Given the description of an element on the screen output the (x, y) to click on. 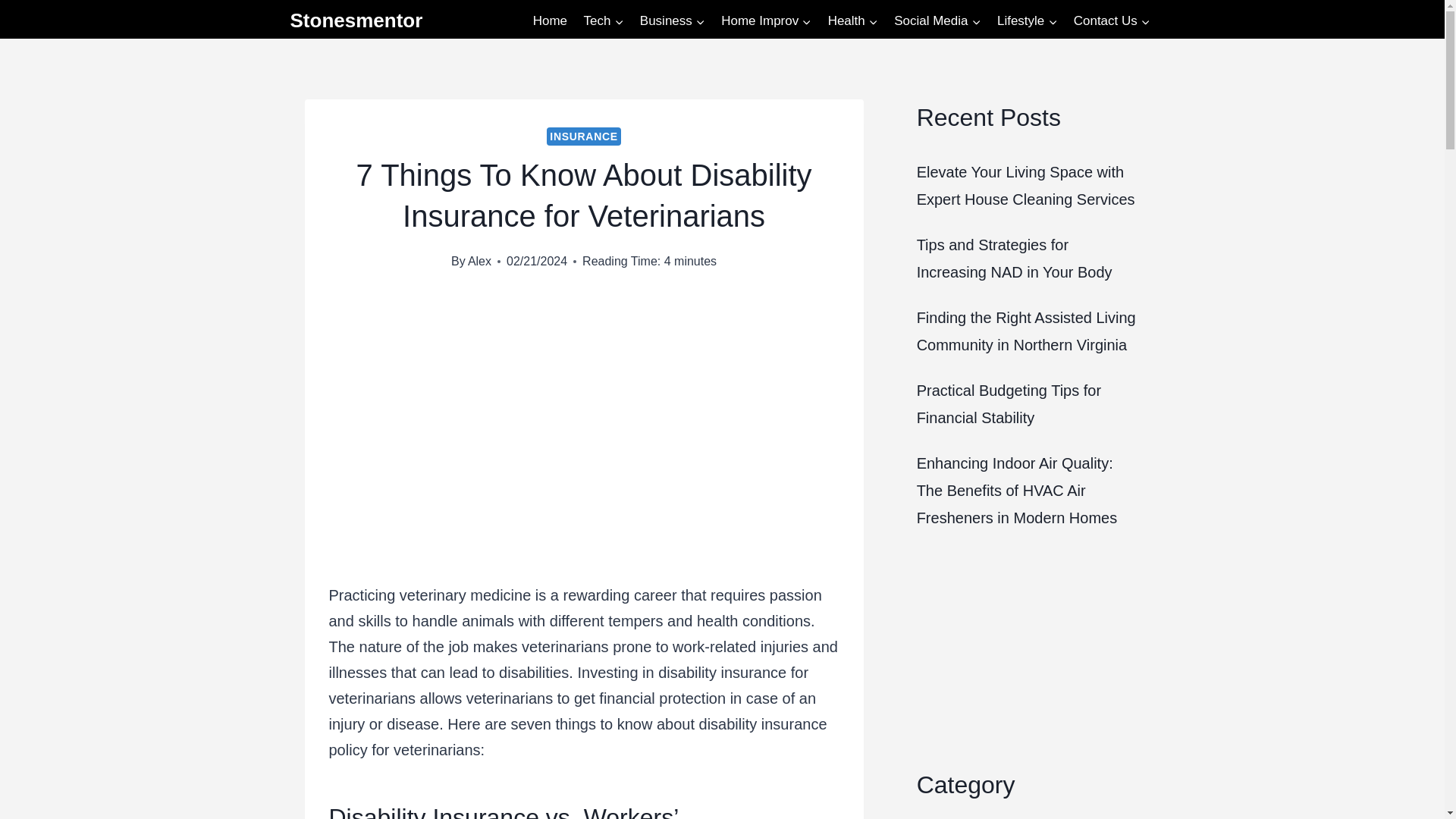
Social Media (936, 21)
Health (852, 21)
Business (672, 21)
Home Improv (765, 21)
Home (549, 21)
Lifestyle (1026, 21)
Stonesmentor (355, 20)
Tech (603, 21)
